Given the description of an element on the screen output the (x, y) to click on. 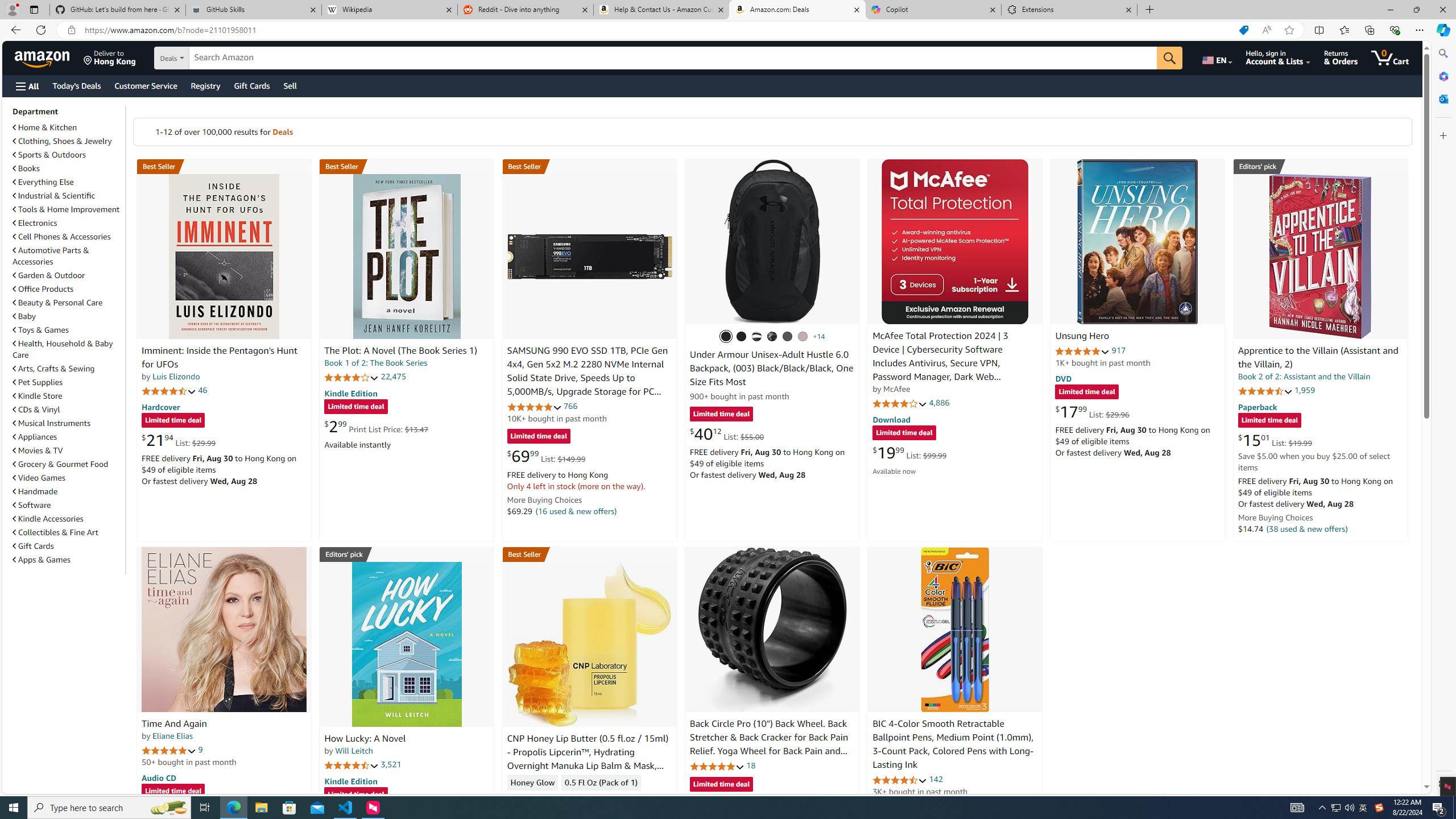
Book 2 of 2: Assistant and the Villain (1303, 376)
Cell Phones & Accessories (61, 236)
Baby (67, 315)
22,475 (393, 376)
Eliane Elias (171, 735)
Collectibles & Fine Art (67, 532)
Amazon (43, 57)
Apprentice to the Villain (Assistant and the Villain, 2) (1319, 256)
$40.12 List: $55.00 (726, 433)
3,521 (390, 764)
